Given the description of an element on the screen output the (x, y) to click on. 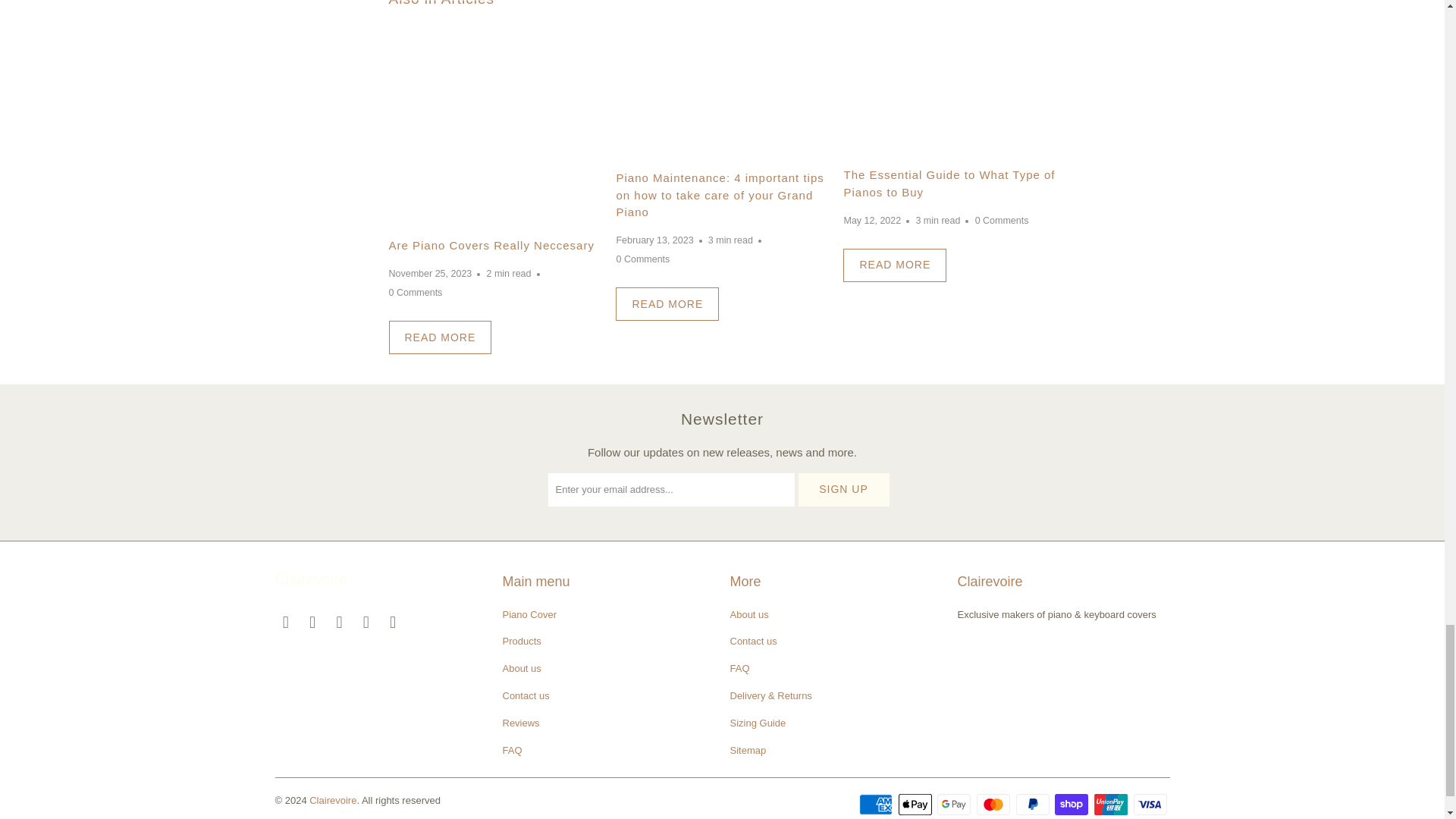
Visa (1150, 804)
Sign Up (842, 489)
Apple Pay (916, 804)
Google Pay (955, 804)
Mastercard (994, 804)
Union Pay (1112, 804)
PayPal (1034, 804)
American Express (877, 804)
Shop Pay (1072, 804)
